Given the description of an element on the screen output the (x, y) to click on. 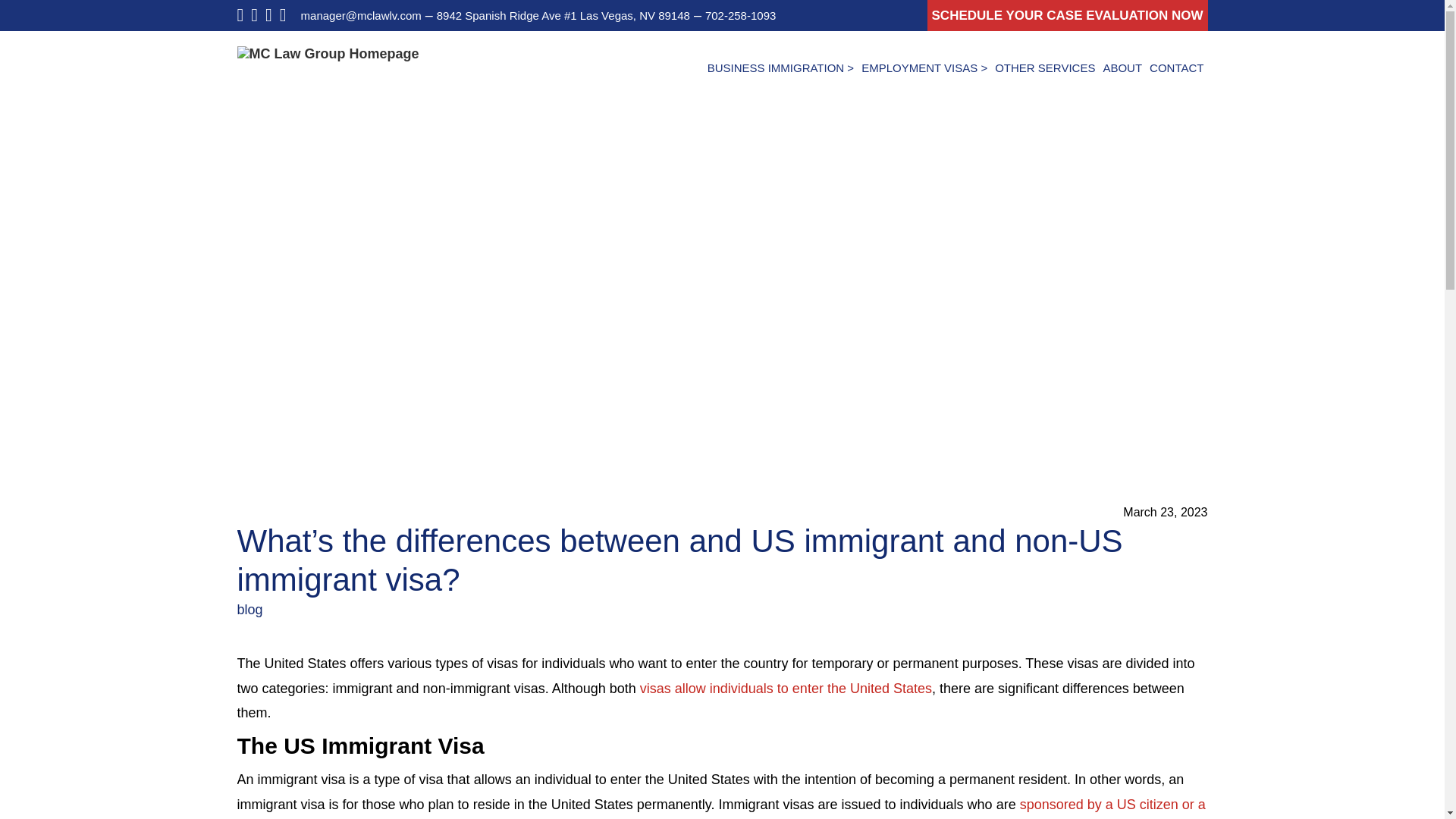
702-258-1093 (740, 15)
SCHEDULE YOUR CASE EVALUATION NOW (1067, 15)
OTHER SERVICES (1045, 67)
MC Law Group (327, 53)
